Given the description of an element on the screen output the (x, y) to click on. 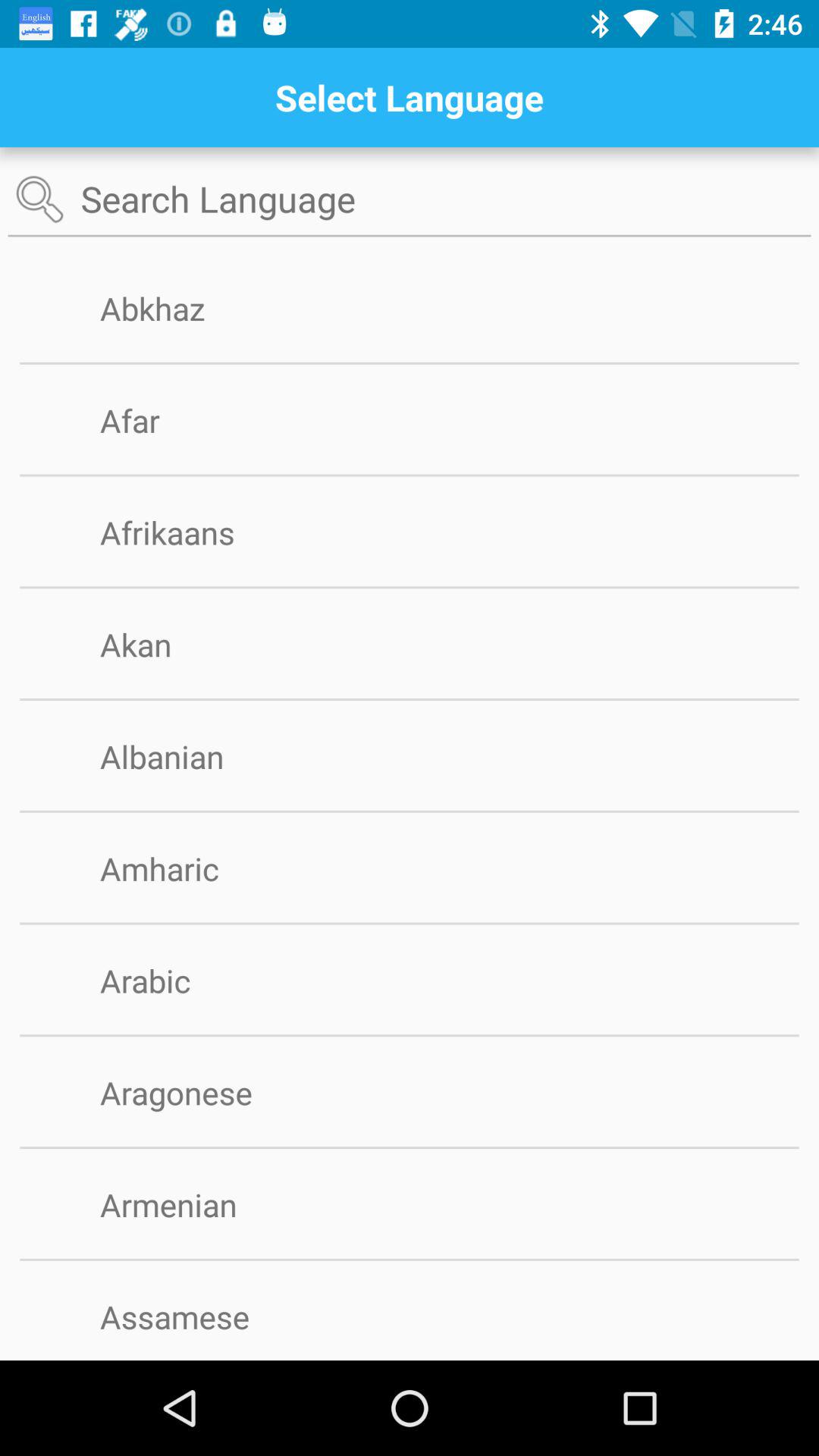
press the albanian icon (186, 756)
